Given the description of an element on the screen output the (x, y) to click on. 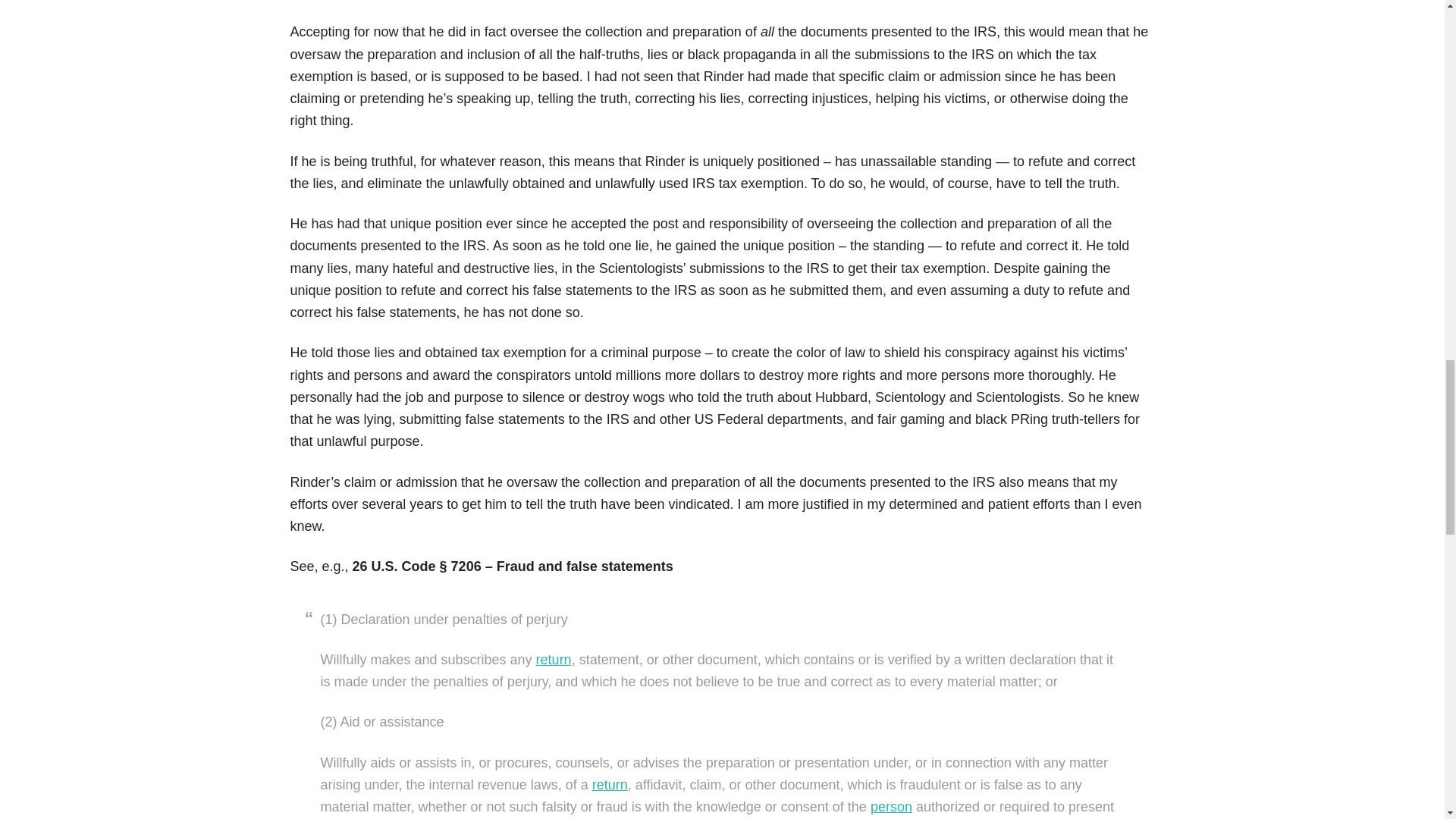
return (609, 784)
person (891, 806)
return (553, 659)
